Given the description of an element on the screen output the (x, y) to click on. 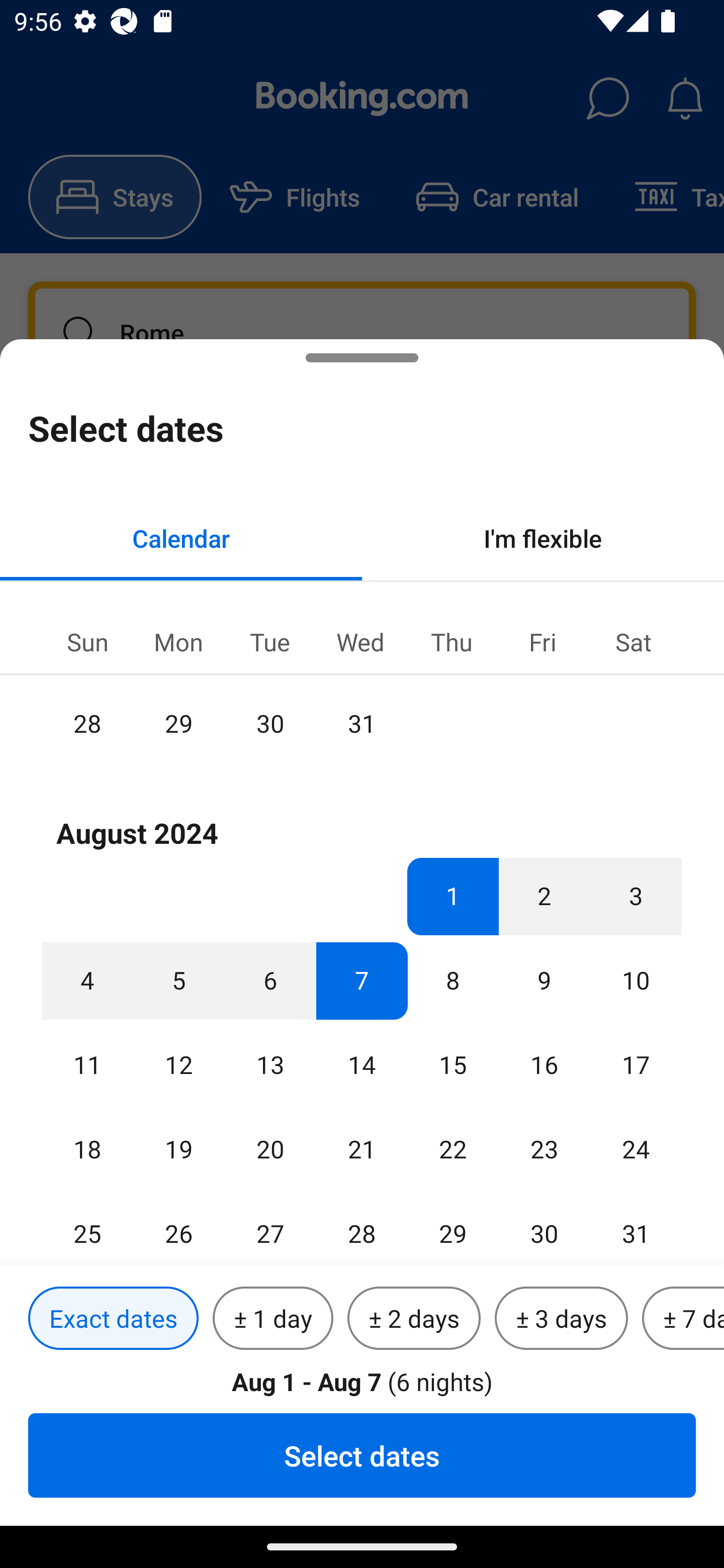
I'm flexible (543, 537)
Exact dates (113, 1318)
± 1 day (272, 1318)
± 2 days (413, 1318)
± 3 days (560, 1318)
± 7 days (683, 1318)
Select dates (361, 1454)
